Given the description of an element on the screen output the (x, y) to click on. 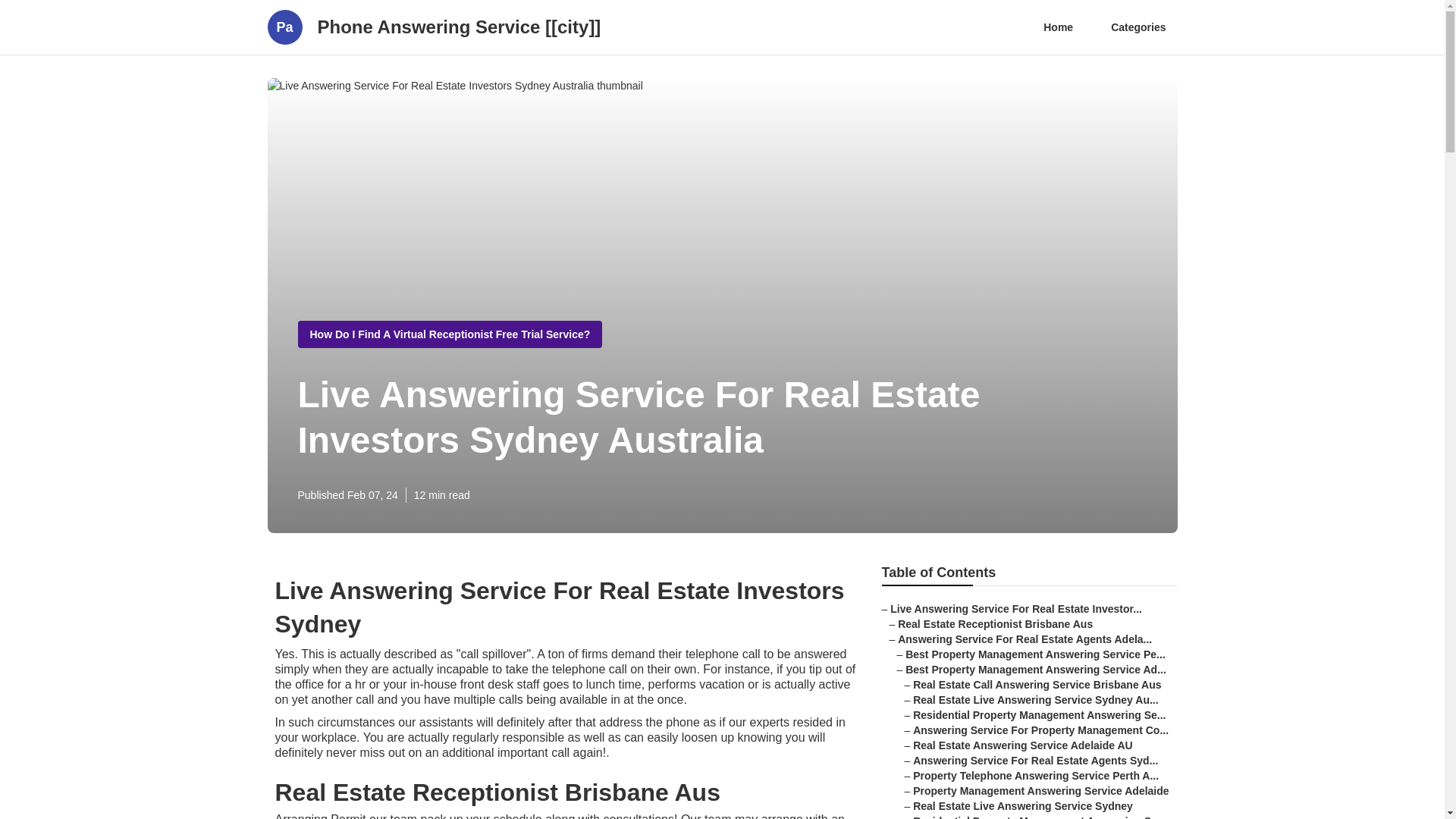
How Do I Find A Virtual Receptionist Free Trial Service? (448, 334)
Home (1058, 27)
Categories (1137, 27)
